Given the description of an element on the screen output the (x, y) to click on. 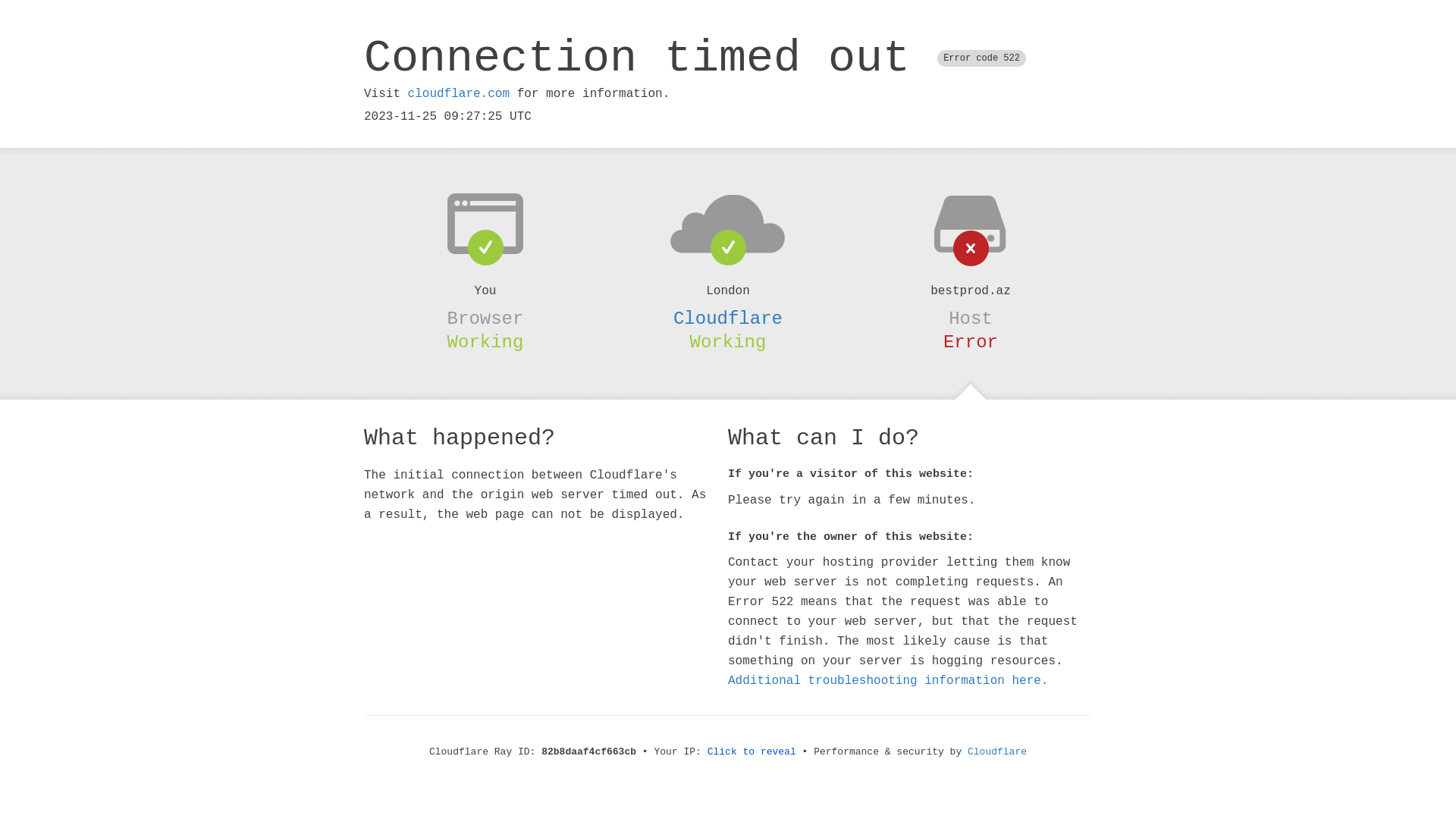
cloudflare.com Element type: text (458, 93)
Cloudflare Element type: text (727, 318)
Additional troubleshooting information here. Element type: text (888, 680)
Cloudflare Element type: text (996, 751)
Click to reveal Element type: text (751, 751)
